Given the description of an element on the screen output the (x, y) to click on. 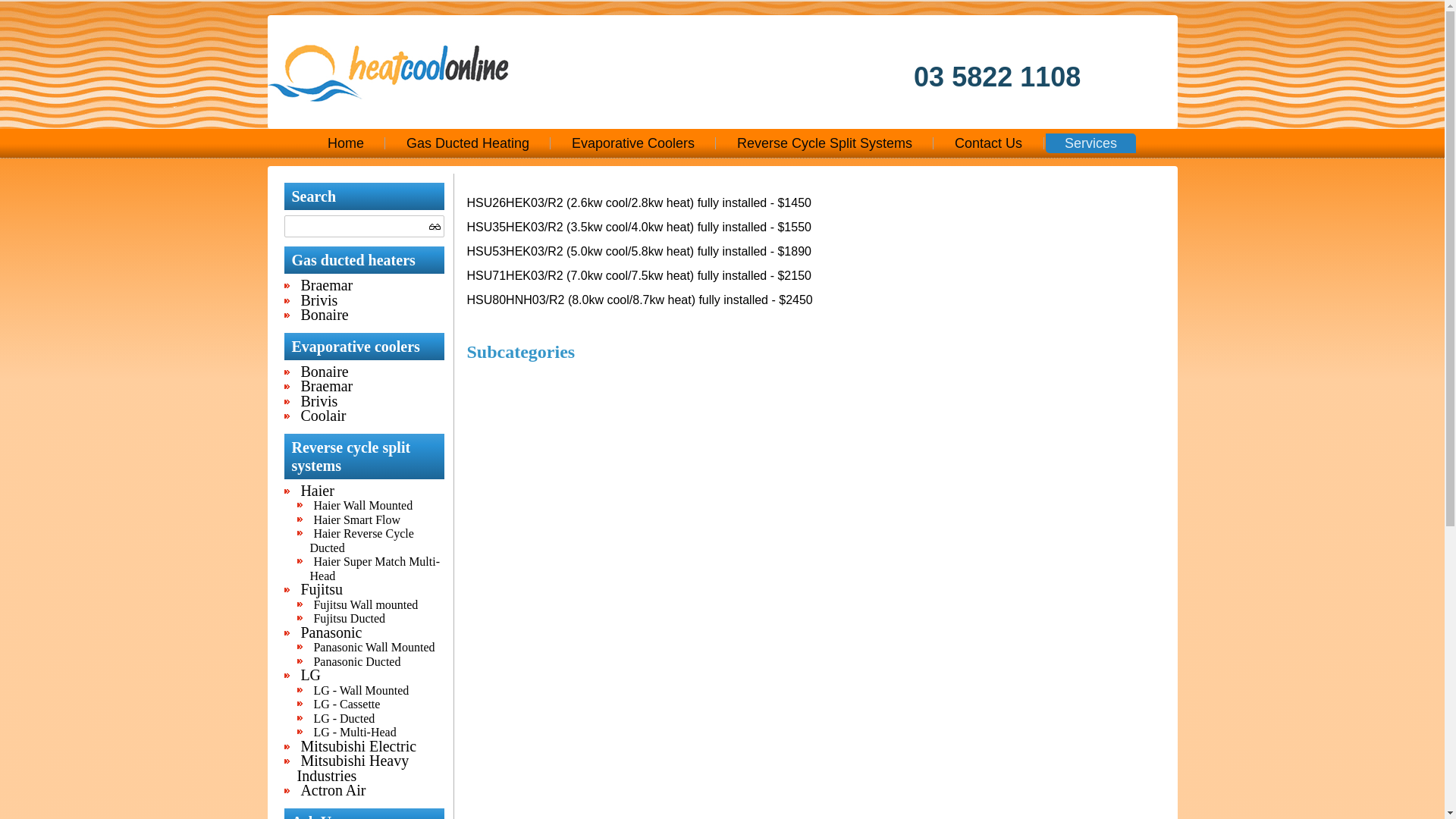
Fujitsu Ducted Element type: text (349, 617)
Panasonic Ducted Element type: text (356, 661)
Haier Super Match Multi-Head Element type: text (374, 568)
Evaporative Coolers Element type: text (632, 143)
Gas Ducted Heating Element type: text (467, 143)
Home Element type: text (345, 143)
Contact Us Element type: text (988, 143)
Haier Element type: text (316, 490)
Mitsubishi Electric Element type: text (358, 745)
Fujitsu Wall mounted Element type: text (365, 603)
Services Element type: text (1090, 143)
Haier Wall Mounted Element type: text (362, 504)
Bonaire Element type: text (324, 314)
Actron Air Element type: text (332, 789)
Mitsubishi Heavy Industries Element type: text (353, 768)
Haier Reverse Cycle Ducted Element type: text (361, 540)
Bonaire Element type: text (324, 370)
LG - Wall Mounted Element type: text (360, 690)
Panasonic Wall Mounted Element type: text (373, 646)
LG Element type: text (310, 674)
Panasonic Element type: text (330, 631)
Haier Smart Flow Element type: text (356, 518)
Braemar Element type: text (326, 284)
Brivis Element type: text (318, 299)
LG - Cassette Element type: text (346, 703)
Fujitsu Element type: text (321, 588)
Brivis Element type: text (318, 400)
Braemar Element type: text (326, 385)
LG - Multi-Head Element type: text (354, 731)
LG - Ducted Element type: text (343, 717)
Coolair Element type: text (322, 415)
Reverse Cycle Split Systems Element type: text (824, 143)
